Given the description of an element on the screen output the (x, y) to click on. 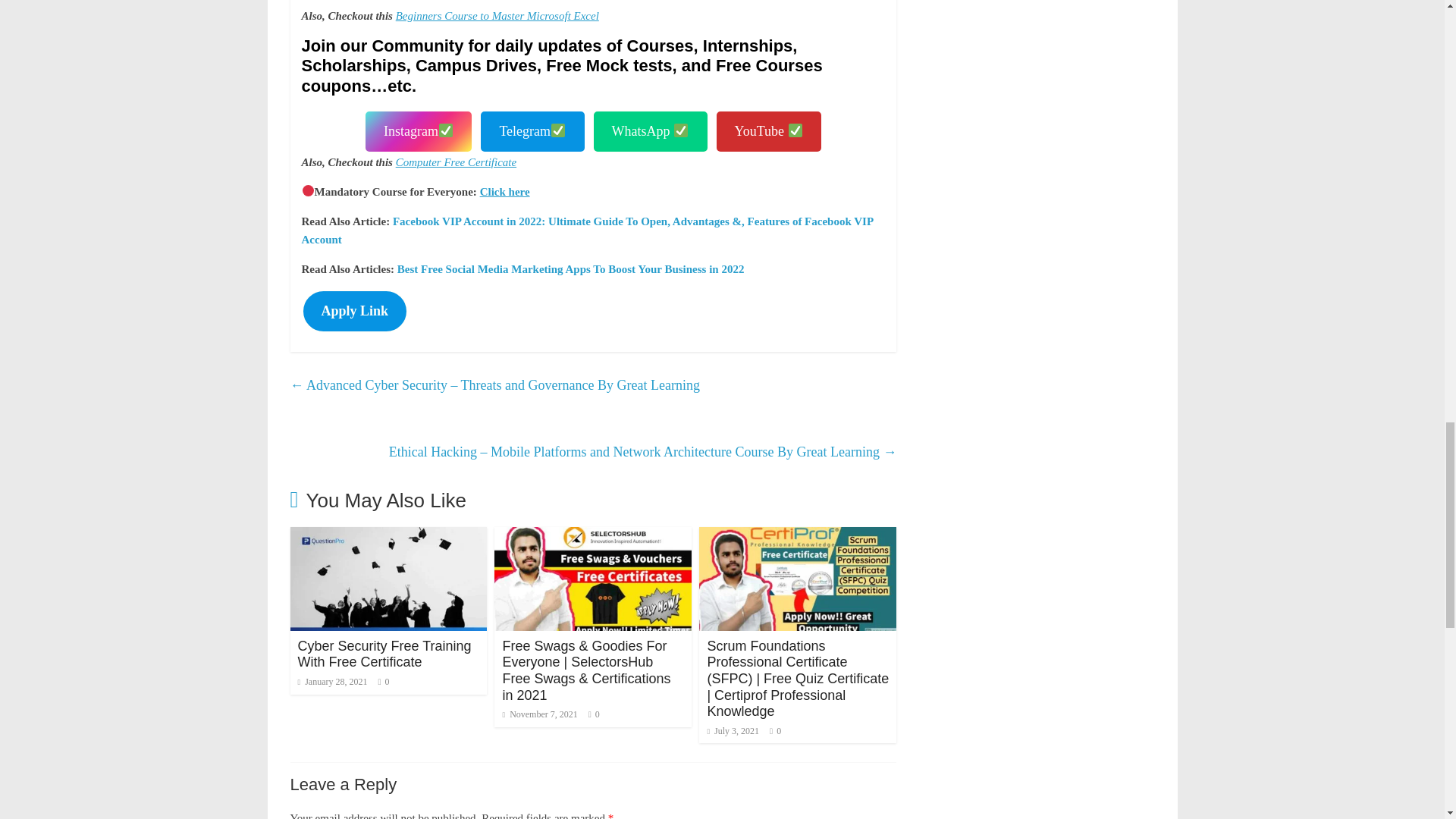
Click here (504, 191)
Computer Free Certificate (456, 162)
January 28, 2021 (331, 681)
5:02 am (331, 681)
Instagram (418, 131)
Cyber Security Free Training With Free Certificate (383, 654)
Beginners Course to Master Microsoft Excel (497, 15)
Cyber Security Free Training With Free Certificate (383, 654)
Apply Link (355, 310)
Cyber Security Free Training With Free Certificate (387, 535)
WhatsApp (650, 131)
Telegram (532, 131)
Cyber Security Free Training With Free Certificate 2 (387, 578)
YouTube (769, 131)
